Given the description of an element on the screen output the (x, y) to click on. 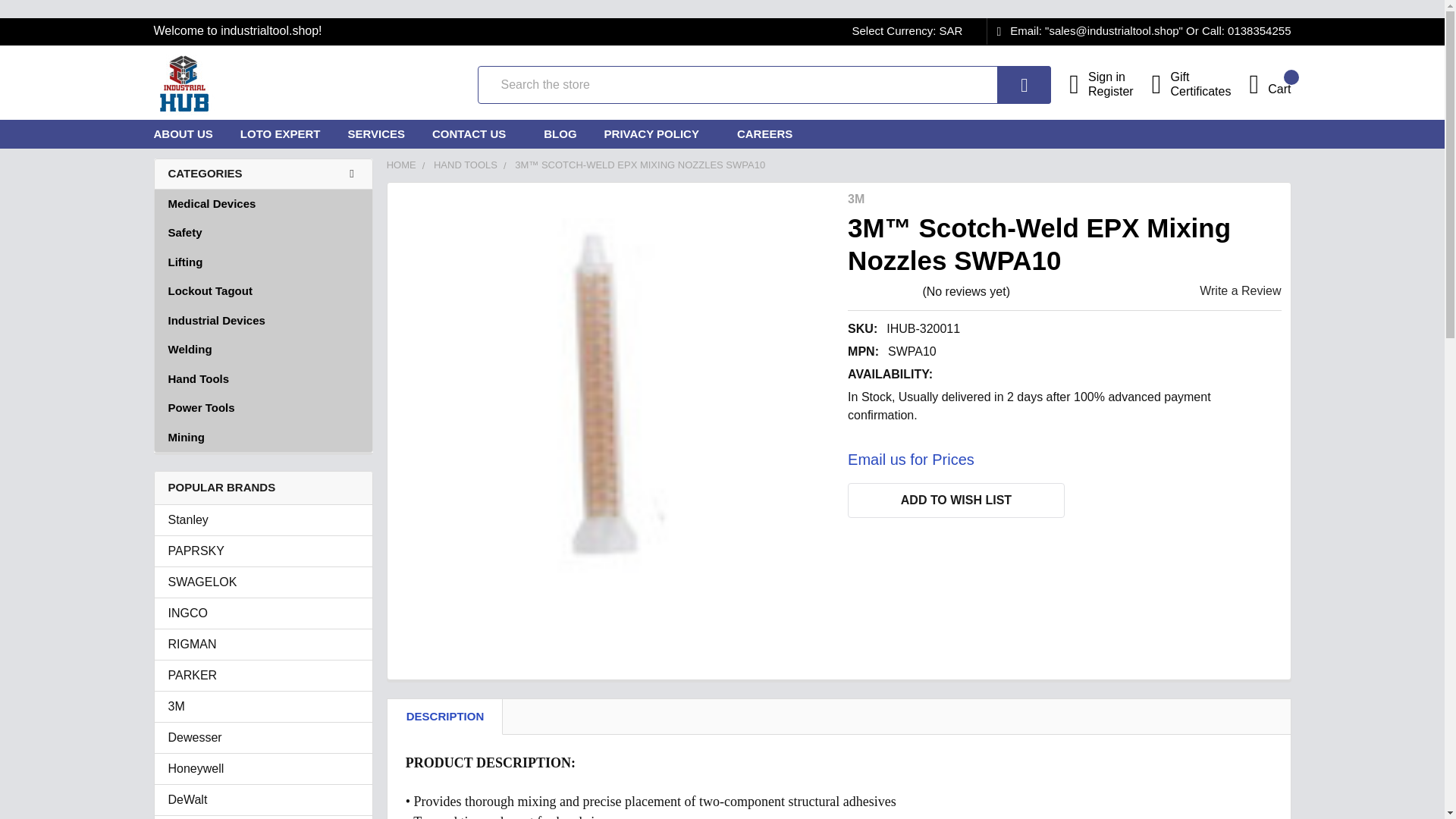
SWAGELOK (263, 582)
RIGMAN (263, 644)
Honeywell (263, 769)
PARKER (263, 675)
Register (1119, 91)
Search (1003, 84)
 INGCO (263, 613)
Cart (1269, 84)
Sign in (1119, 77)
Dewesser (263, 737)
